Given the description of an element on the screen output the (x, y) to click on. 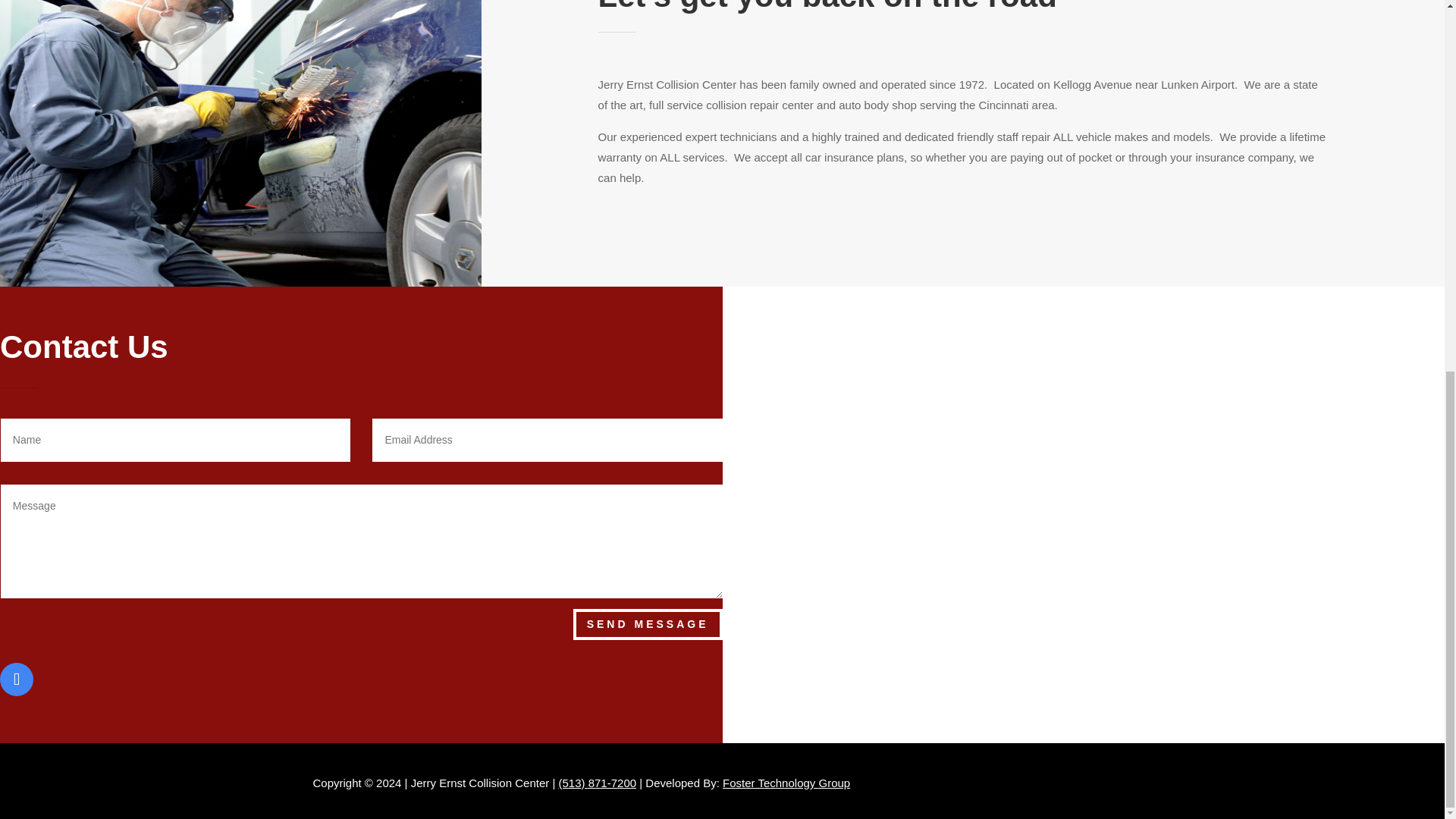
Follow on Google (16, 679)
SEND MESSAGE (647, 624)
Foster Technology Group (786, 782)
